Given the description of an element on the screen output the (x, y) to click on. 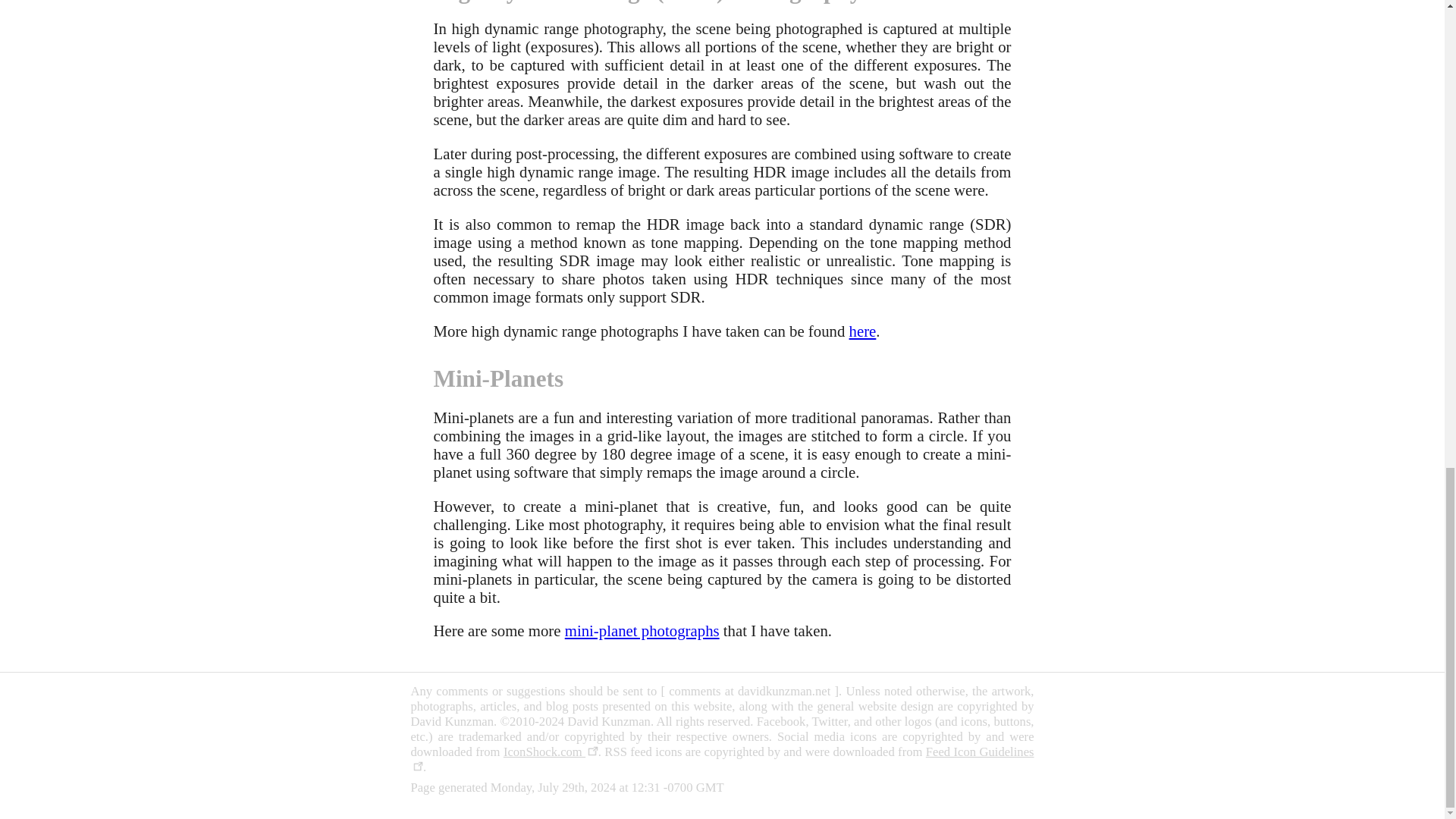
Feed Icon Guidelines (721, 758)
here (862, 330)
mini-planet photographs (641, 630)
IconShock.com (550, 751)
